Given the description of an element on the screen output the (x, y) to click on. 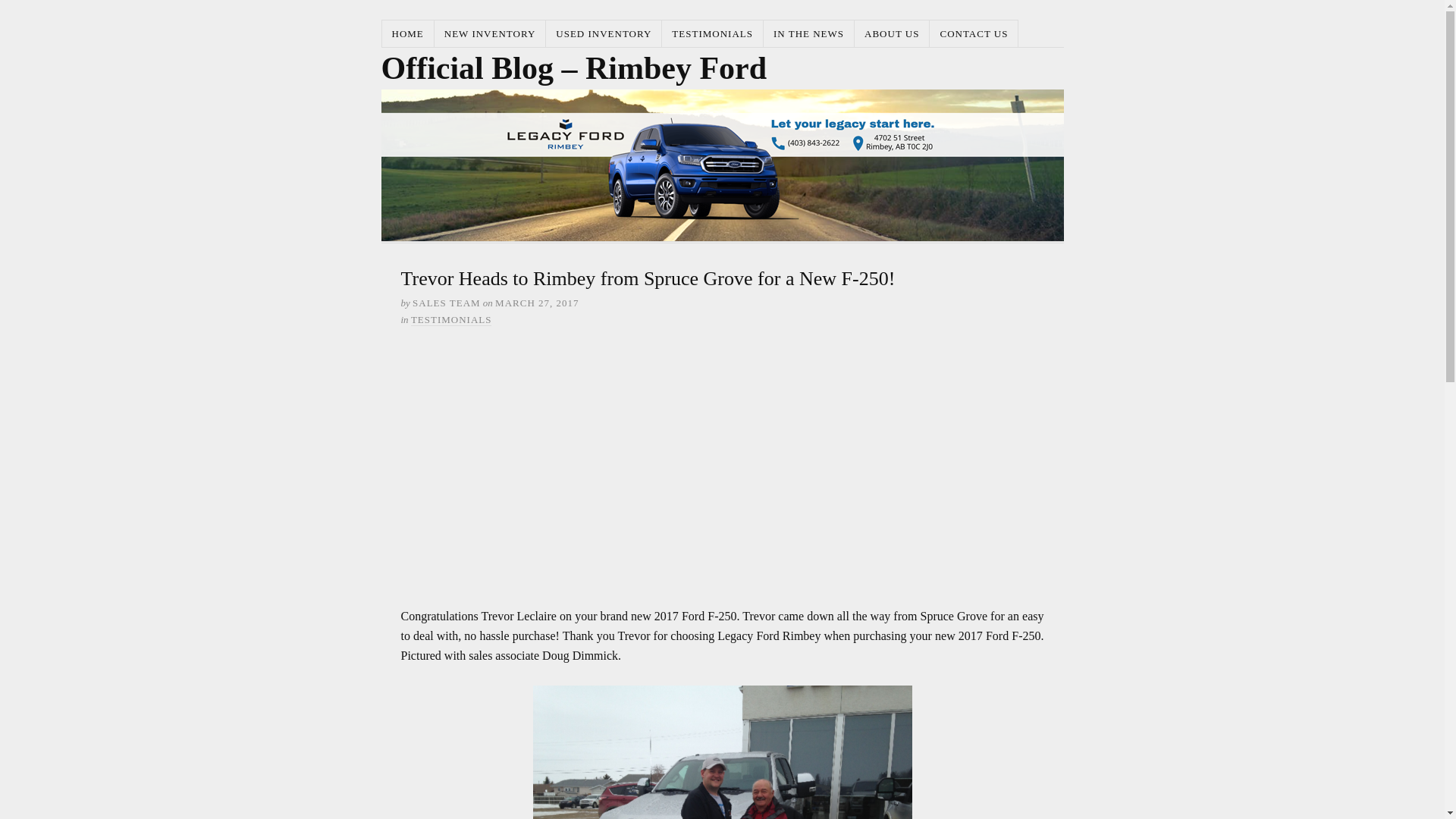
TESTIMONIALS Element type: text (451, 319)
CONTACT US Element type: text (973, 33)
HOME Element type: text (408, 33)
ABOUT US Element type: text (891, 33)
TESTIMONIALS Element type: text (712, 33)
NEW INVENTORY Element type: text (490, 33)
IN THE NEWS Element type: text (808, 33)
USED INVENTORY Element type: text (604, 33)
